Given the description of an element on the screen output the (x, y) to click on. 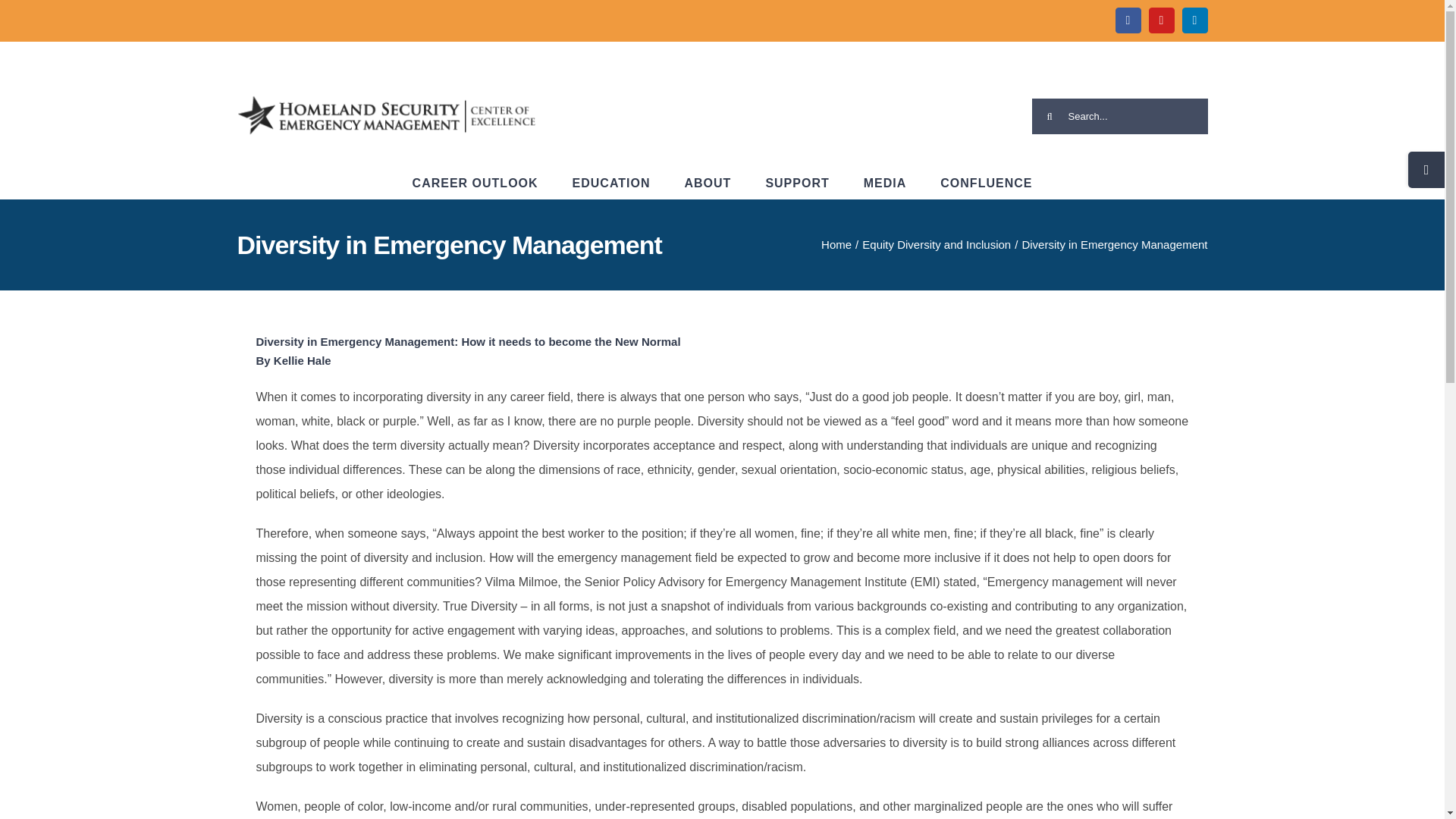
Facebook (1127, 20)
EDUCATION (611, 183)
LinkedIn (1193, 20)
Facebook (1127, 20)
YouTube (1160, 20)
YouTube (1160, 20)
LinkedIn (1193, 20)
CAREER OUTLOOK (475, 183)
